Given the description of an element on the screen output the (x, y) to click on. 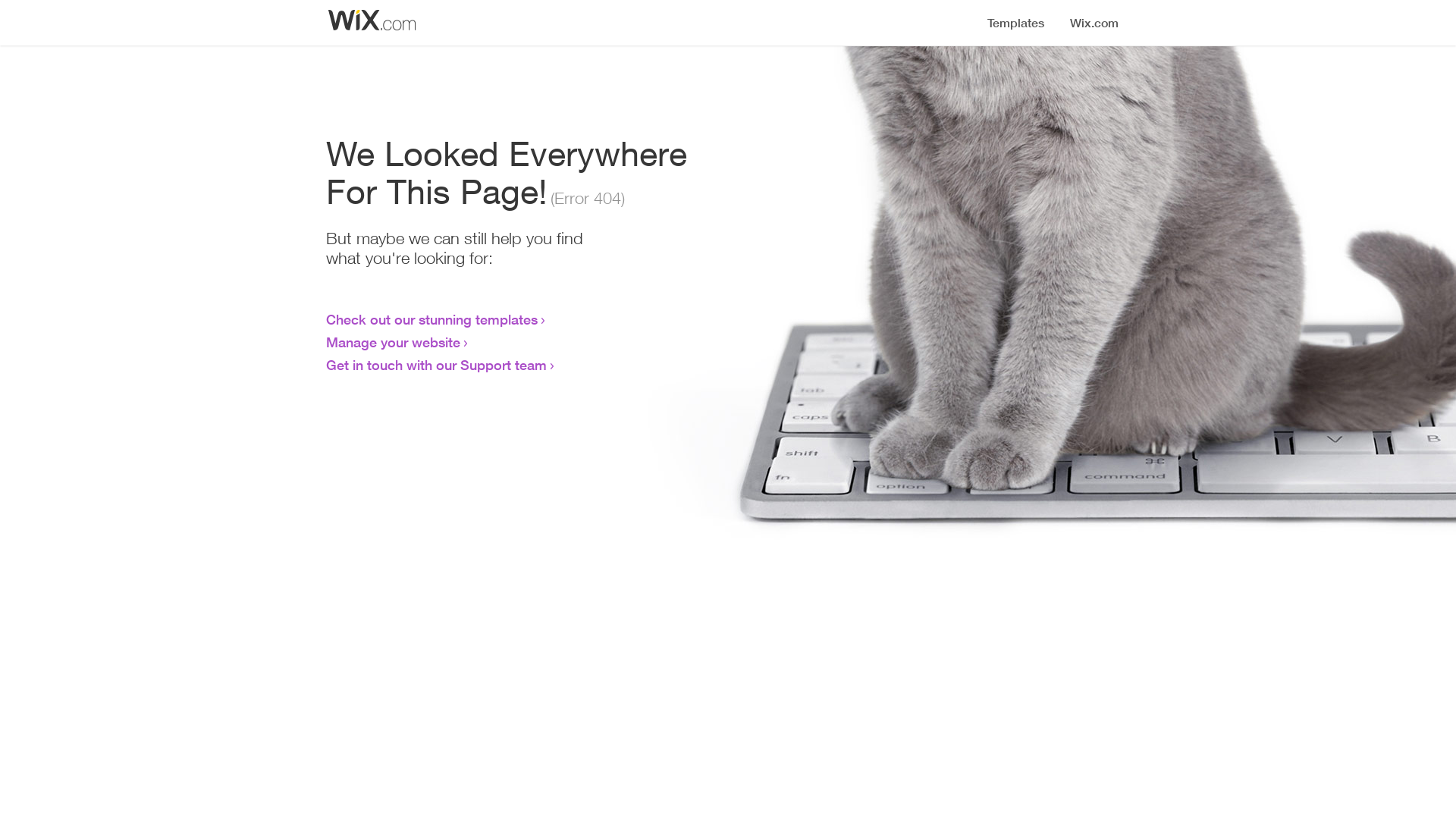
Get in touch with our Support team Element type: text (436, 364)
Manage your website Element type: text (393, 341)
Check out our stunning templates Element type: text (431, 318)
